Given the description of an element on the screen output the (x, y) to click on. 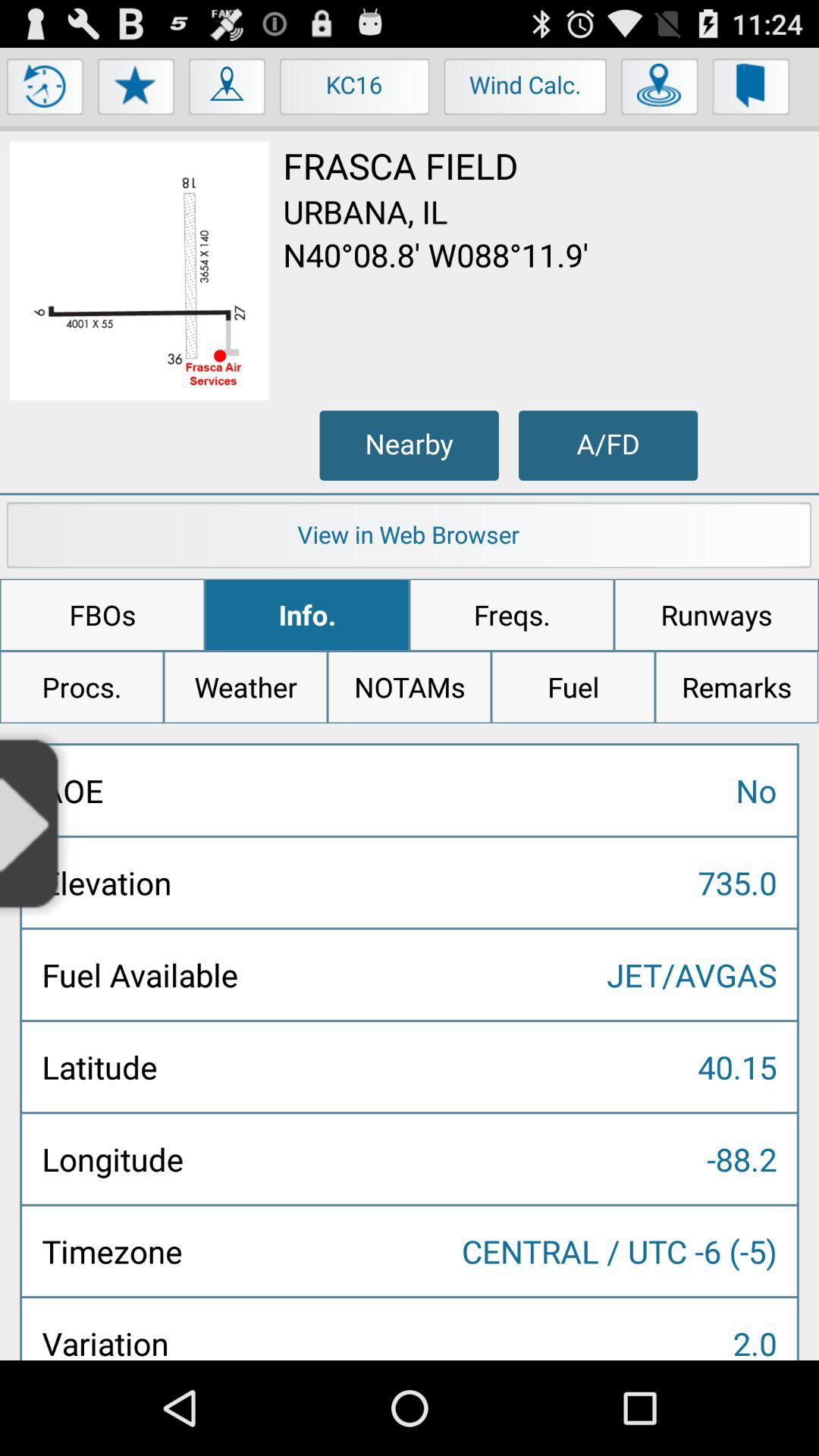
toggle my location (227, 90)
